Given the description of an element on the screen output the (x, y) to click on. 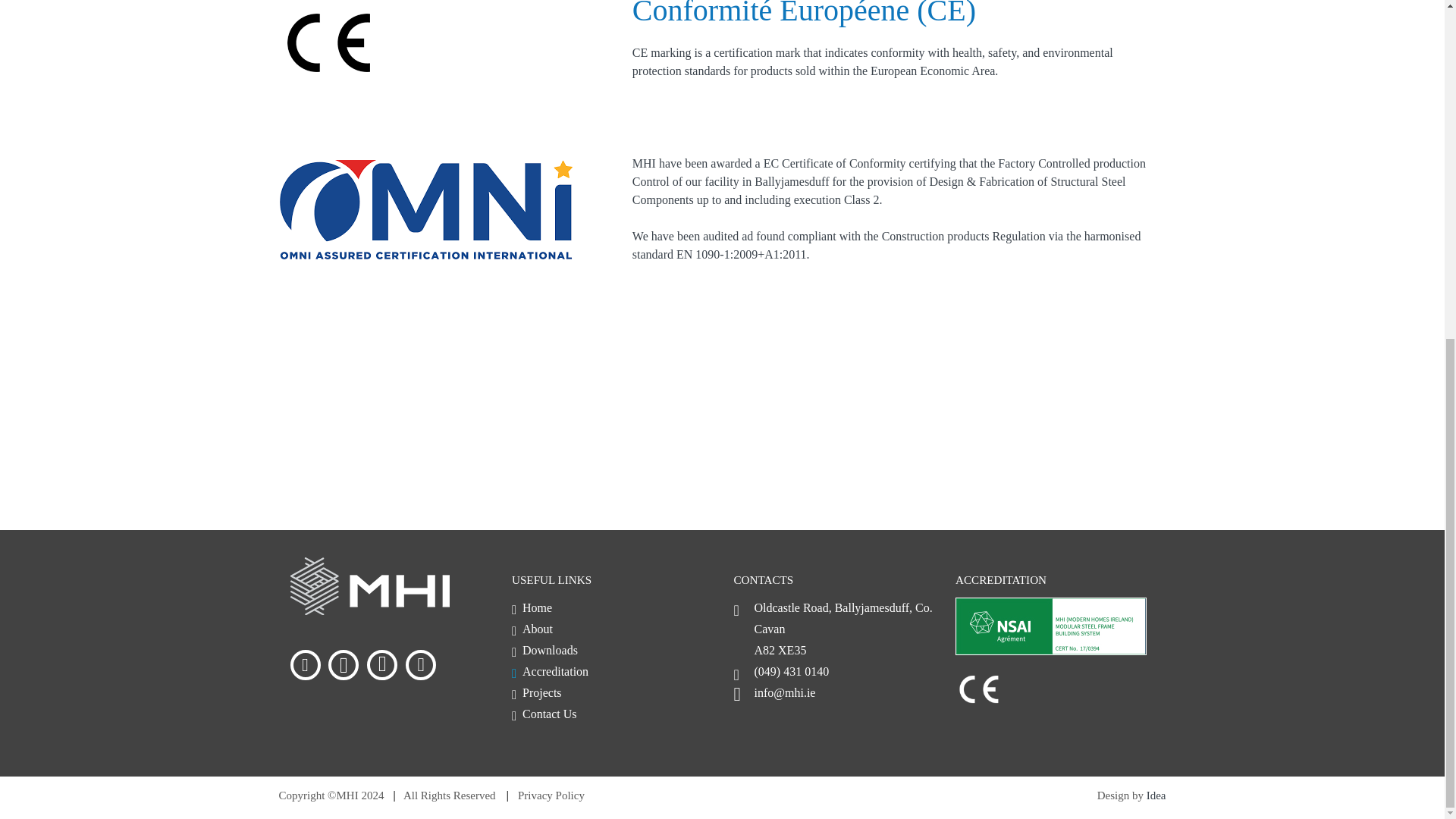
Home (531, 607)
Projects (537, 692)
Contact Us (544, 713)
Home (531, 607)
Downloads (545, 649)
Downloads (545, 649)
MHI (1051, 626)
About (532, 628)
Idea (1156, 795)
Accreditation (550, 671)
About (532, 628)
Projects (537, 692)
Privacy Policy (551, 795)
MHI (368, 603)
